Given the description of an element on the screen output the (x, y) to click on. 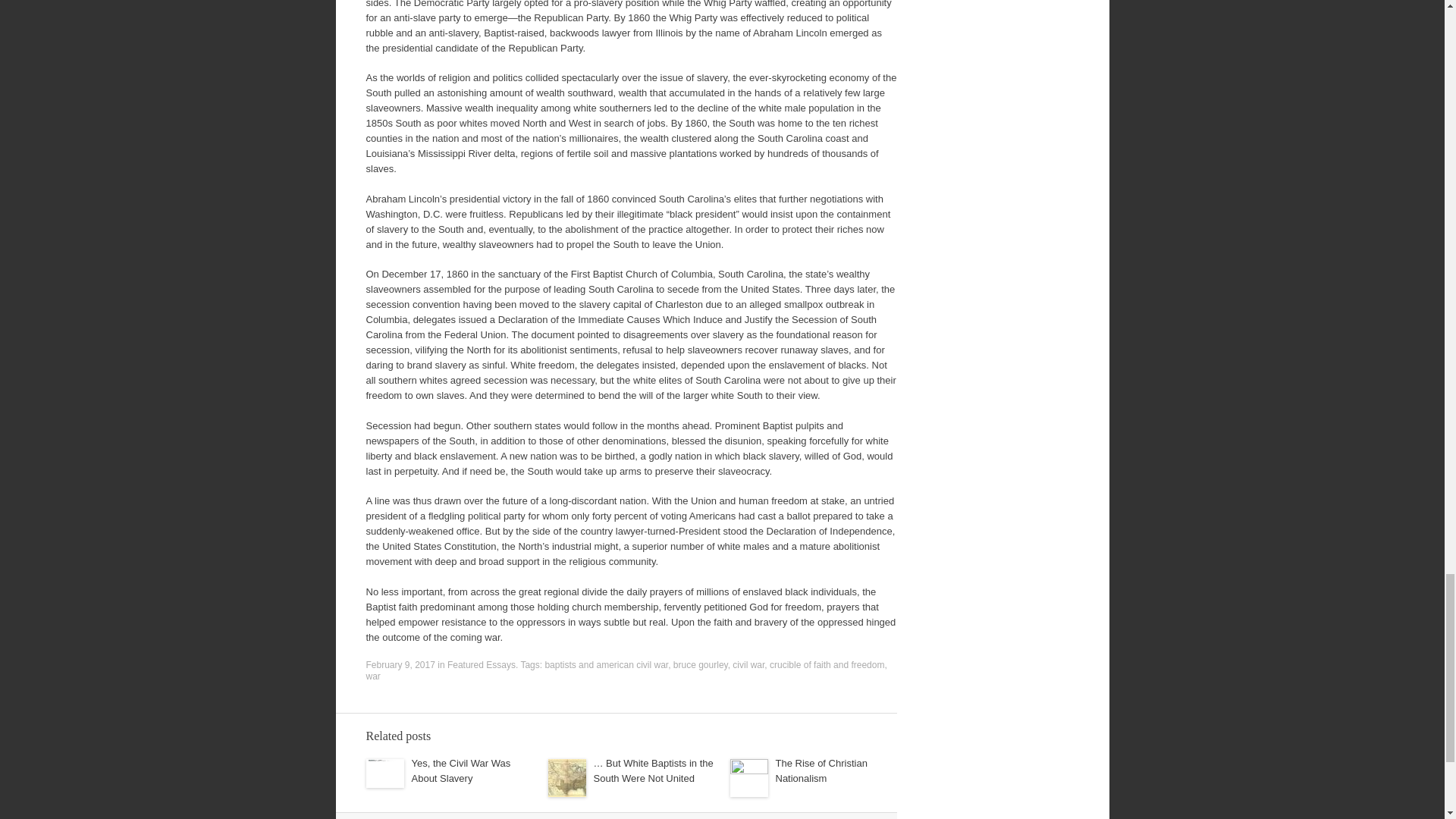
crucible of faith and freedom (826, 665)
war (372, 675)
Yes, the Civil War Was About Slavery (460, 770)
Permalink to Yes, the Civil War Was About Slavery (460, 770)
February 9, 2017 (399, 665)
Featured Essays (480, 665)
baptists and american civil war (606, 665)
civil war (748, 665)
bruce gourley (700, 665)
Permalink to The Rise of Christian Nationalism (820, 770)
